Given the description of an element on the screen output the (x, y) to click on. 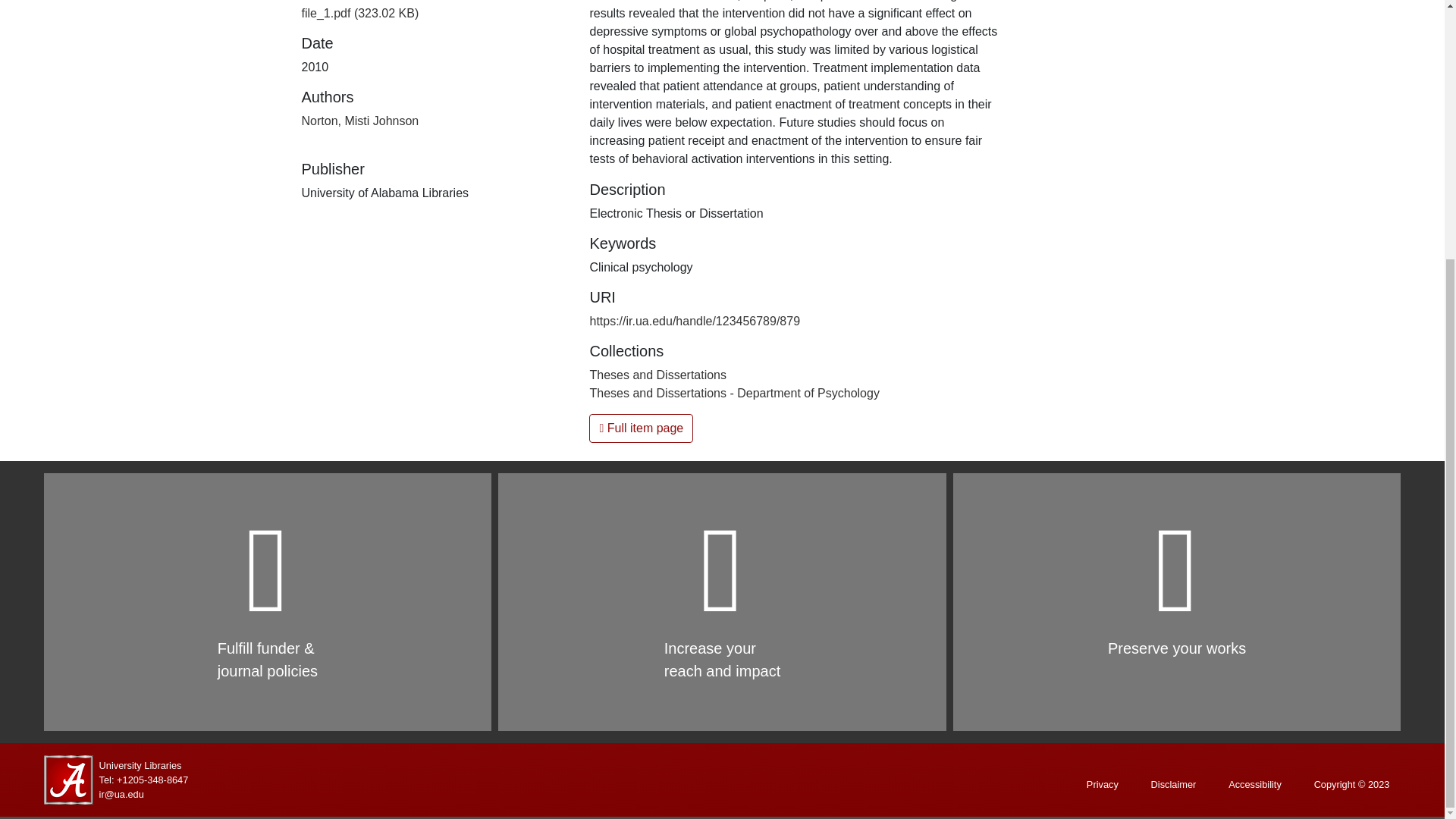
University Libraries (140, 764)
Copyright (1351, 784)
Privacy (1102, 784)
Norton, Misti Johnson (360, 120)
Disclaimer (1174, 784)
Accessibility (1254, 784)
Accessibility (1254, 784)
Theses and Dissertations - Department of Psychology (734, 392)
Disclaimer (1174, 784)
Full item page (641, 428)
